Given the description of an element on the screen output the (x, y) to click on. 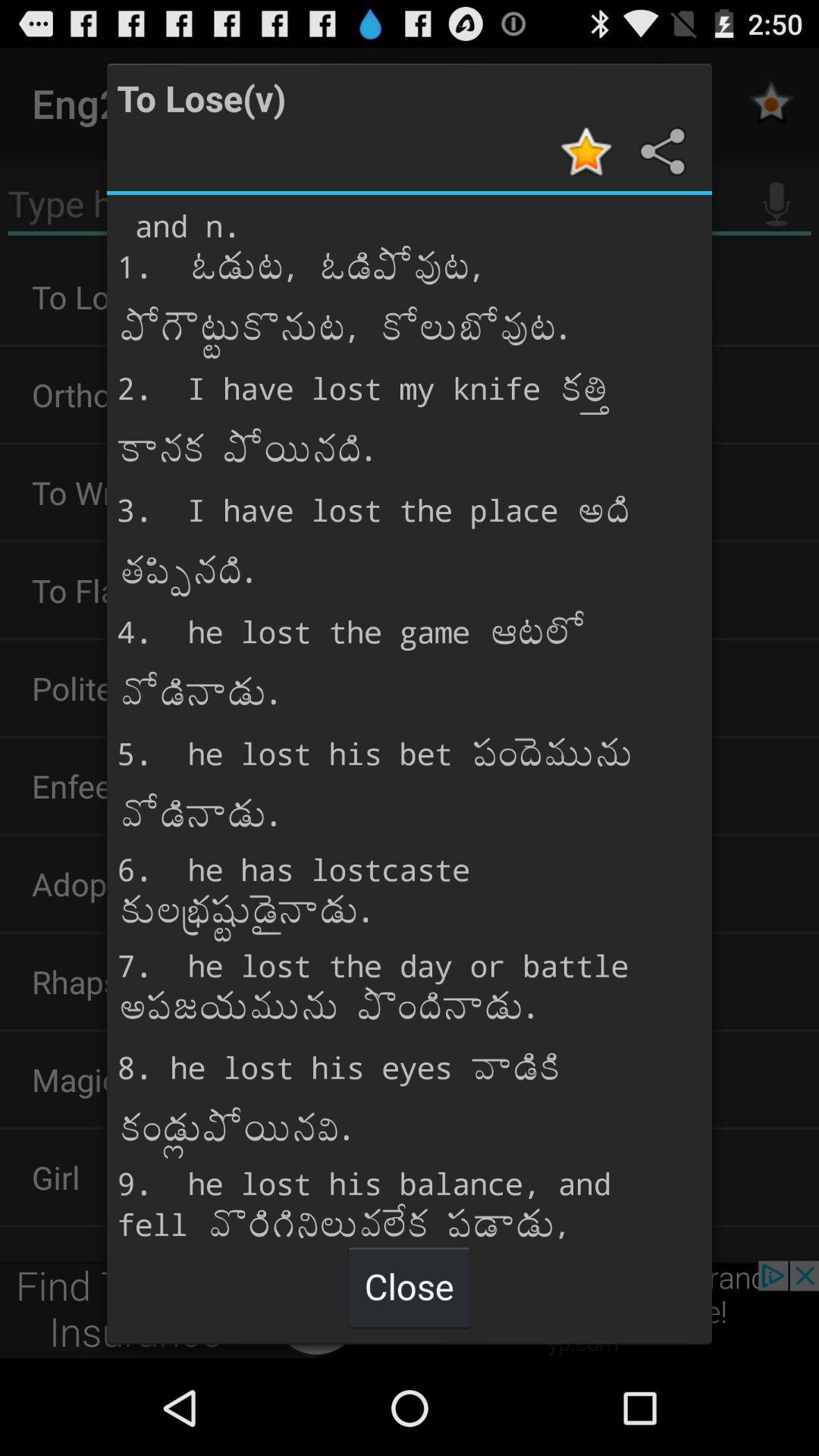
scroll to close item (408, 1286)
